Given the description of an element on the screen output the (x, y) to click on. 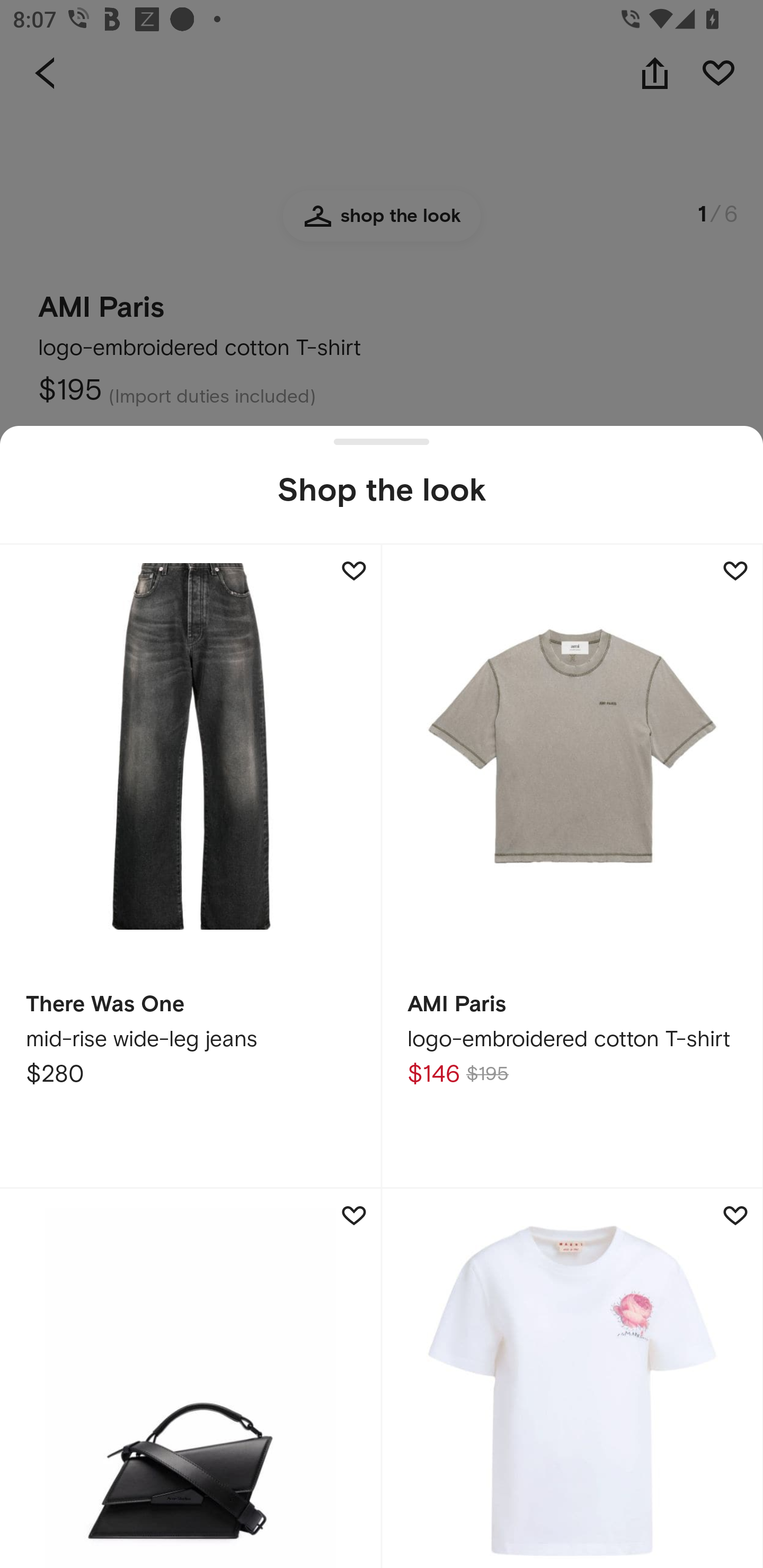
There Was One mid-rise wide-leg jeans $280 (190, 865)
